Given the description of an element on the screen output the (x, y) to click on. 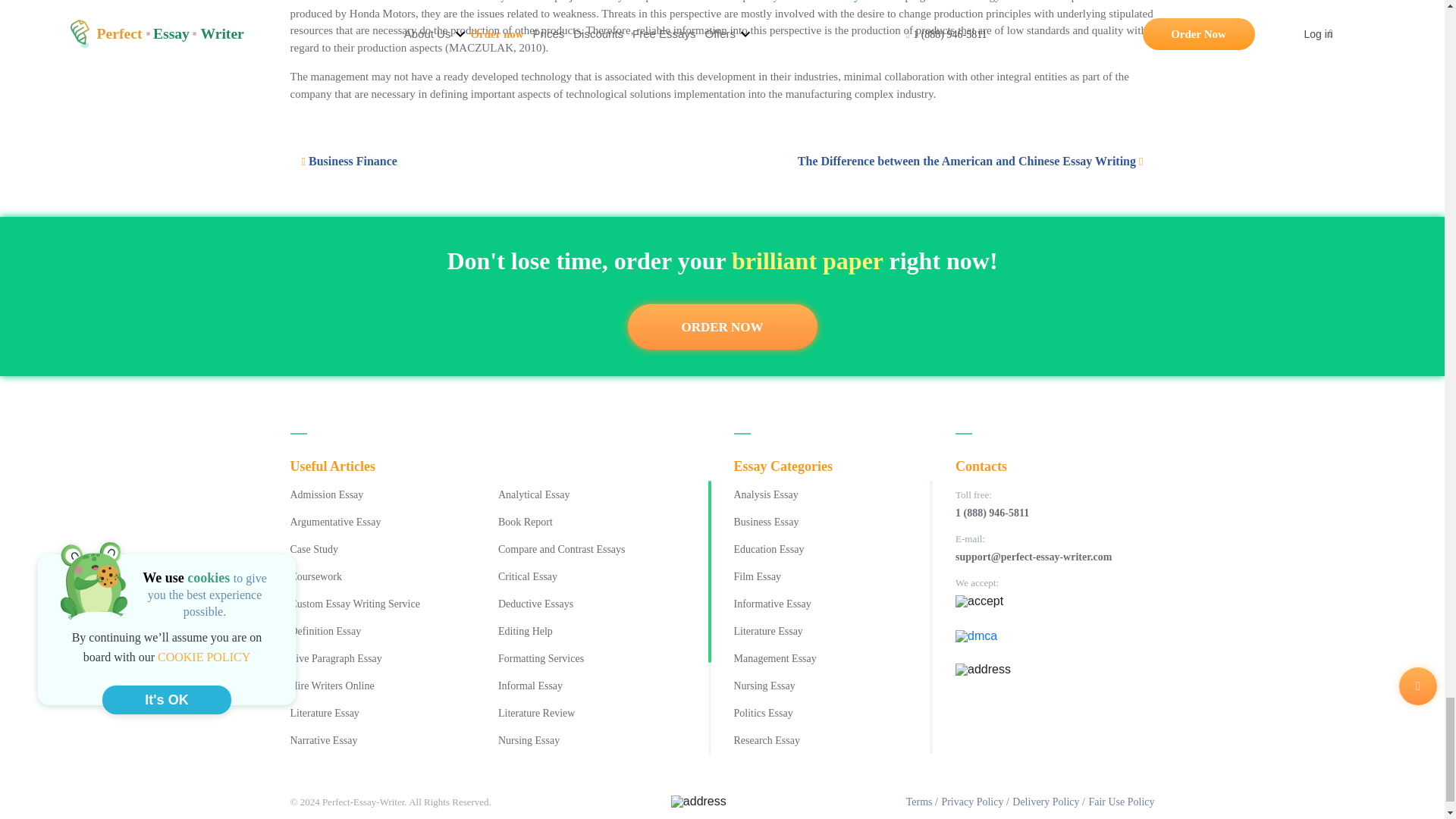
Fair Use Policy (1120, 801)
DMCA.com Protection Status (1054, 640)
Terms and Conditions (921, 801)
Delivery Policy (1047, 801)
Privacy Policy (974, 801)
